Given the description of an element on the screen output the (x, y) to click on. 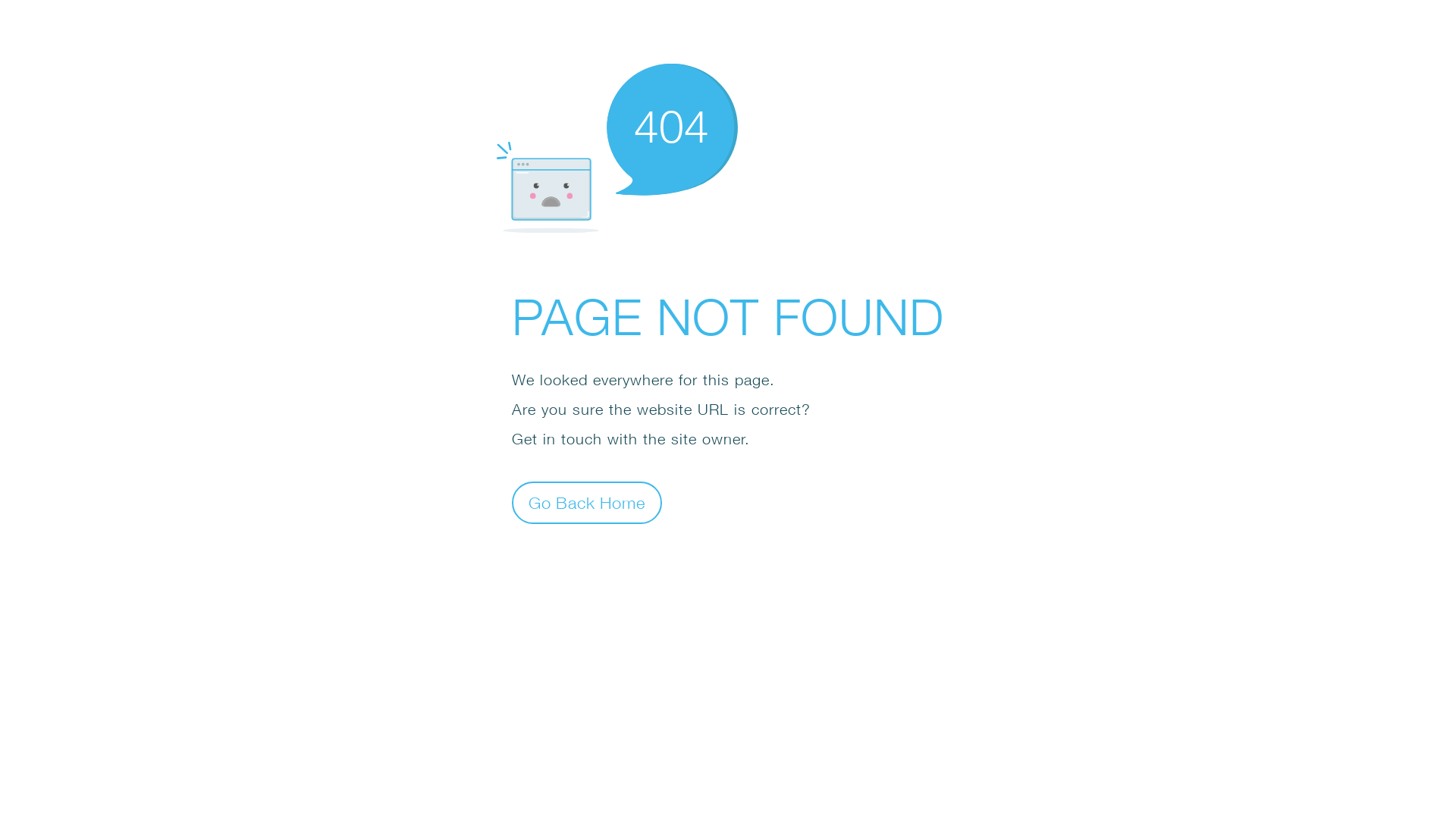
Go Back Home Element type: text (586, 502)
